Given the description of an element on the screen output the (x, y) to click on. 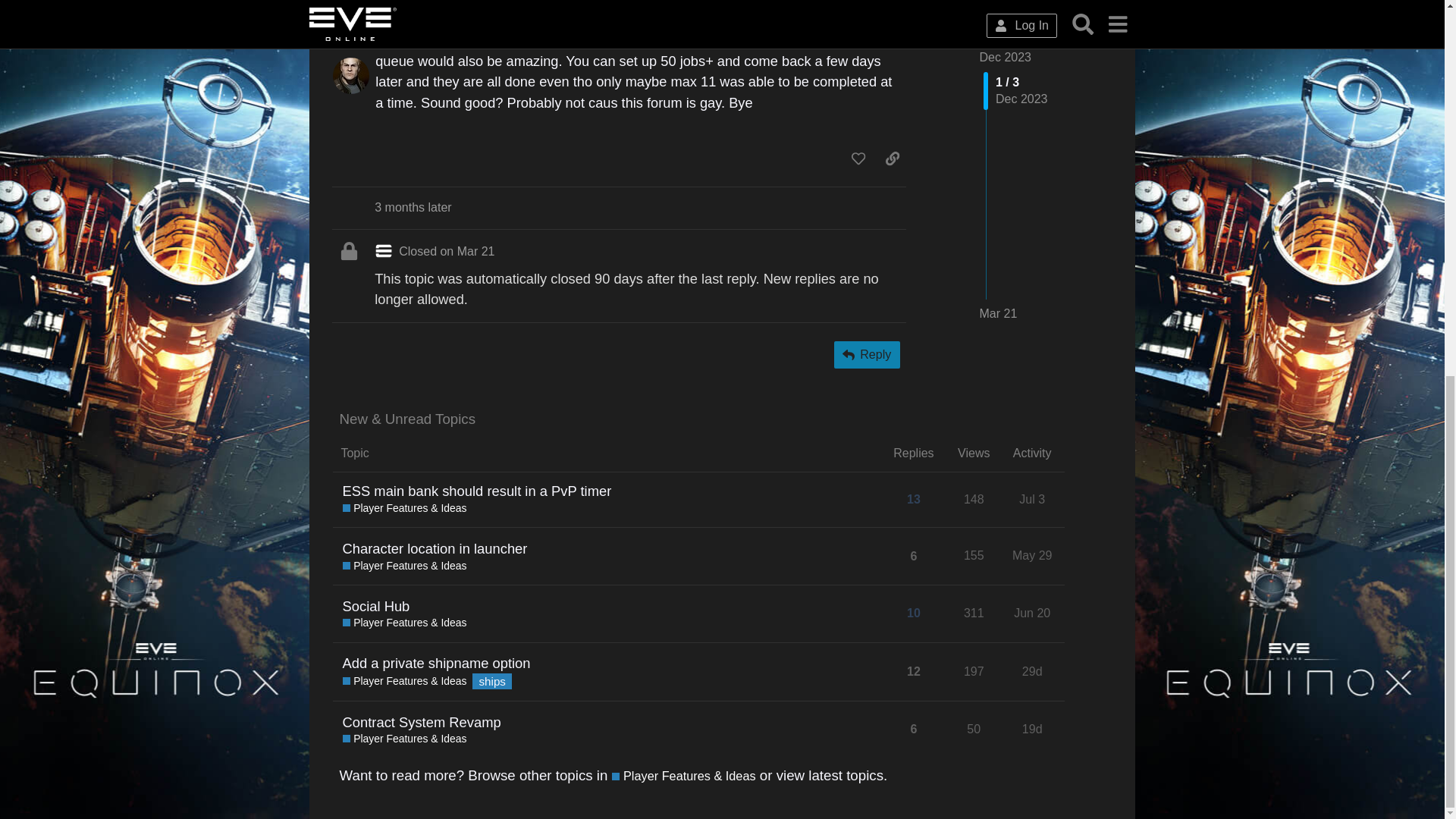
Jul 3 (1031, 498)
Reply (866, 354)
copy a link to this post to clipboard (892, 158)
Social Hub (376, 606)
Character location in launcher (434, 548)
ESS main bank should result in a PvP timer (476, 490)
May 29 (1032, 555)
Add a private shipname option (436, 662)
like this post (858, 158)
Jun 20 (1032, 612)
